Given the description of an element on the screen output the (x, y) to click on. 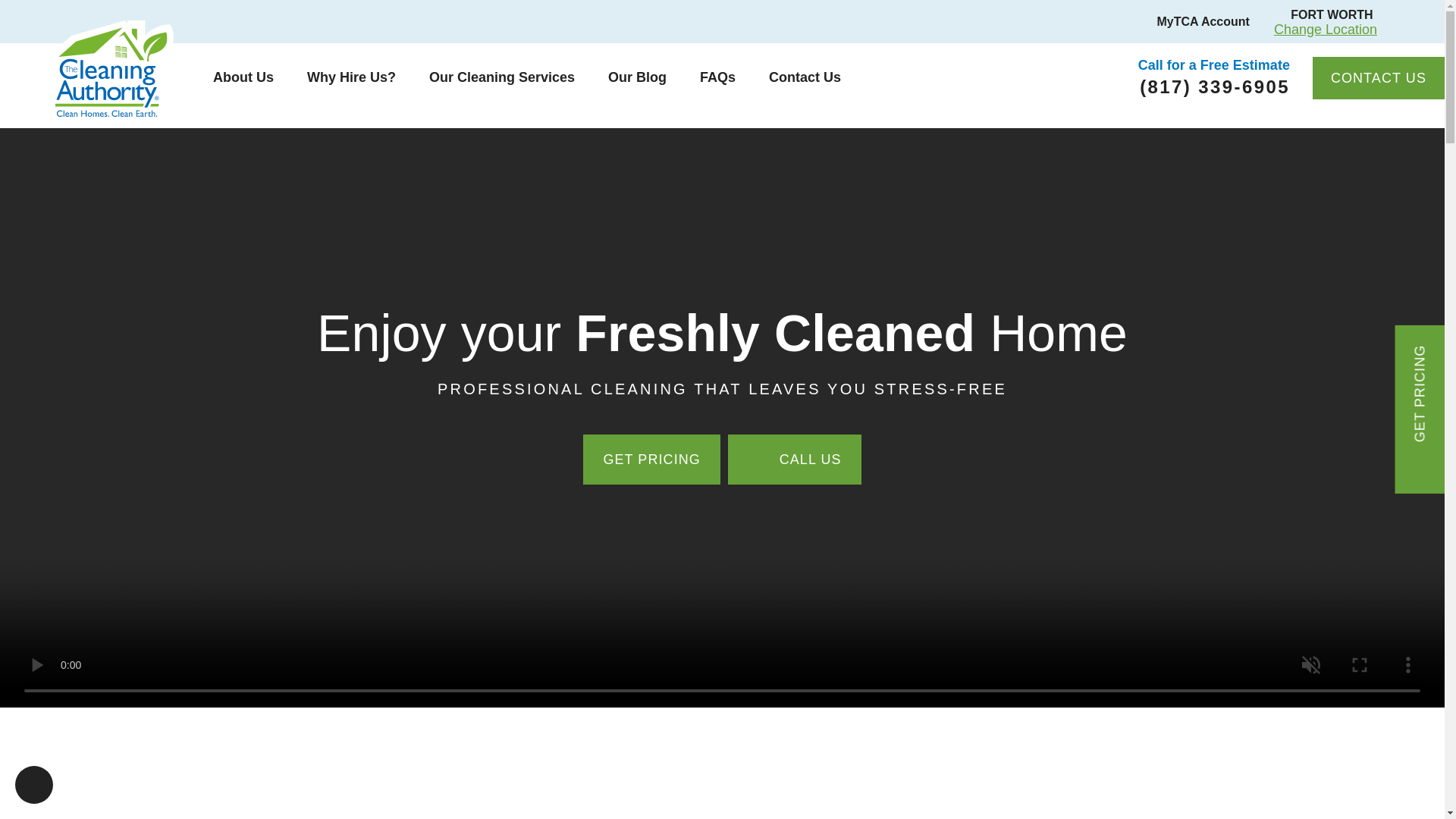
Our Cleaning Services (501, 77)
GET PRICING (651, 459)
Our Blog (636, 77)
About Us (242, 77)
Why Hire Us? (350, 77)
Change Location (1325, 29)
Contact Us (804, 77)
The Cleaning Authority (112, 68)
Open the accessibility options menu (33, 784)
FAQs (717, 77)
MyTCA Account (1193, 21)
